Given the description of an element on the screen output the (x, y) to click on. 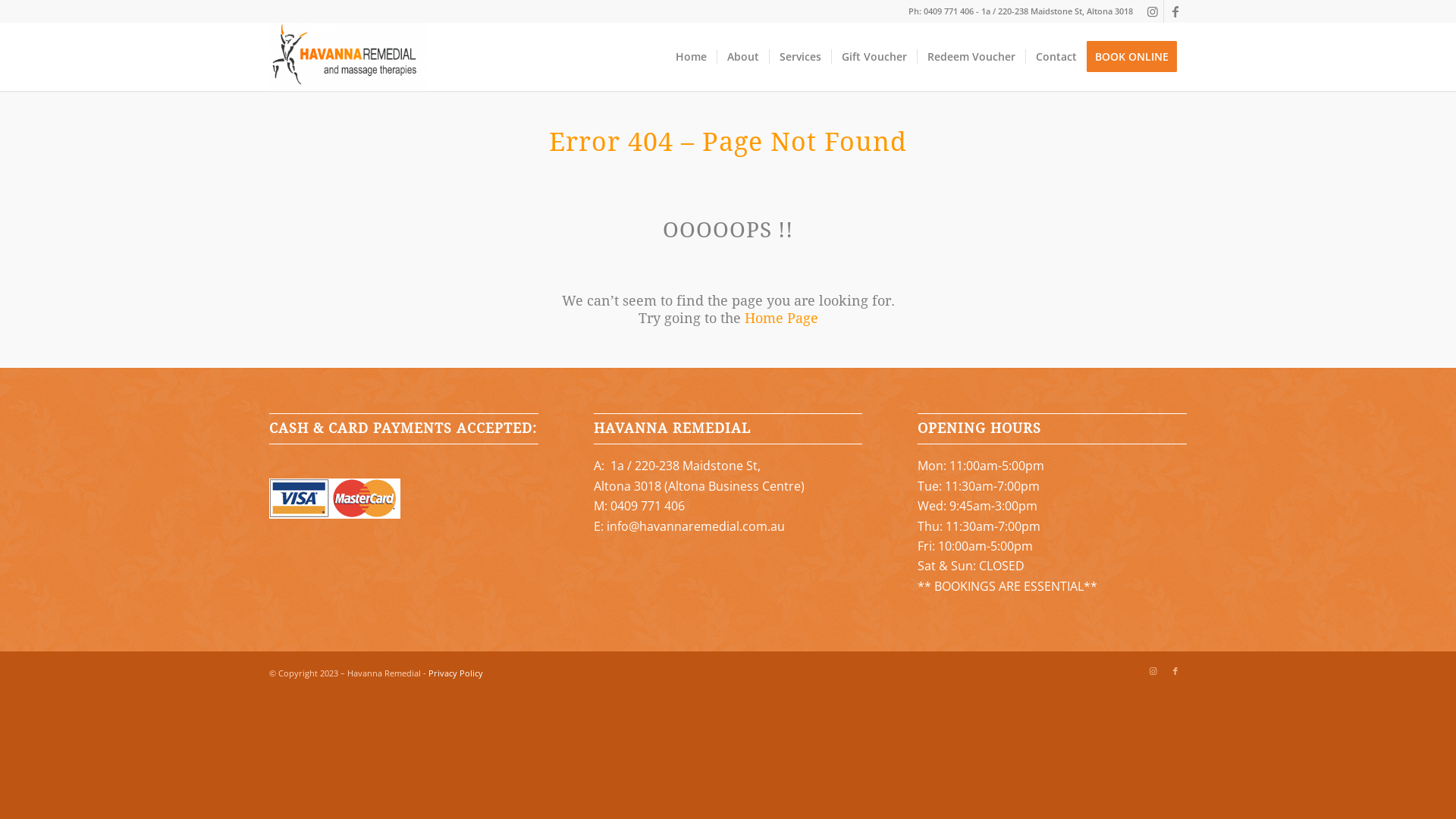
Instagram Element type: hover (1152, 11)
Gift Voucher Element type: text (873, 56)
Facebook Element type: hover (1175, 11)
About Element type: text (742, 56)
Home Element type: text (690, 56)
Home Page Element type: text (781, 318)
Redeem Voucher Element type: text (970, 56)
Services Element type: text (799, 56)
BOOK ONLINE Element type: text (1136, 56)
Privacy Policy Element type: text (455, 672)
Facebook Element type: hover (1175, 670)
Instagram Element type: hover (1152, 670)
Contact Element type: text (1055, 56)
